Given the description of an element on the screen output the (x, y) to click on. 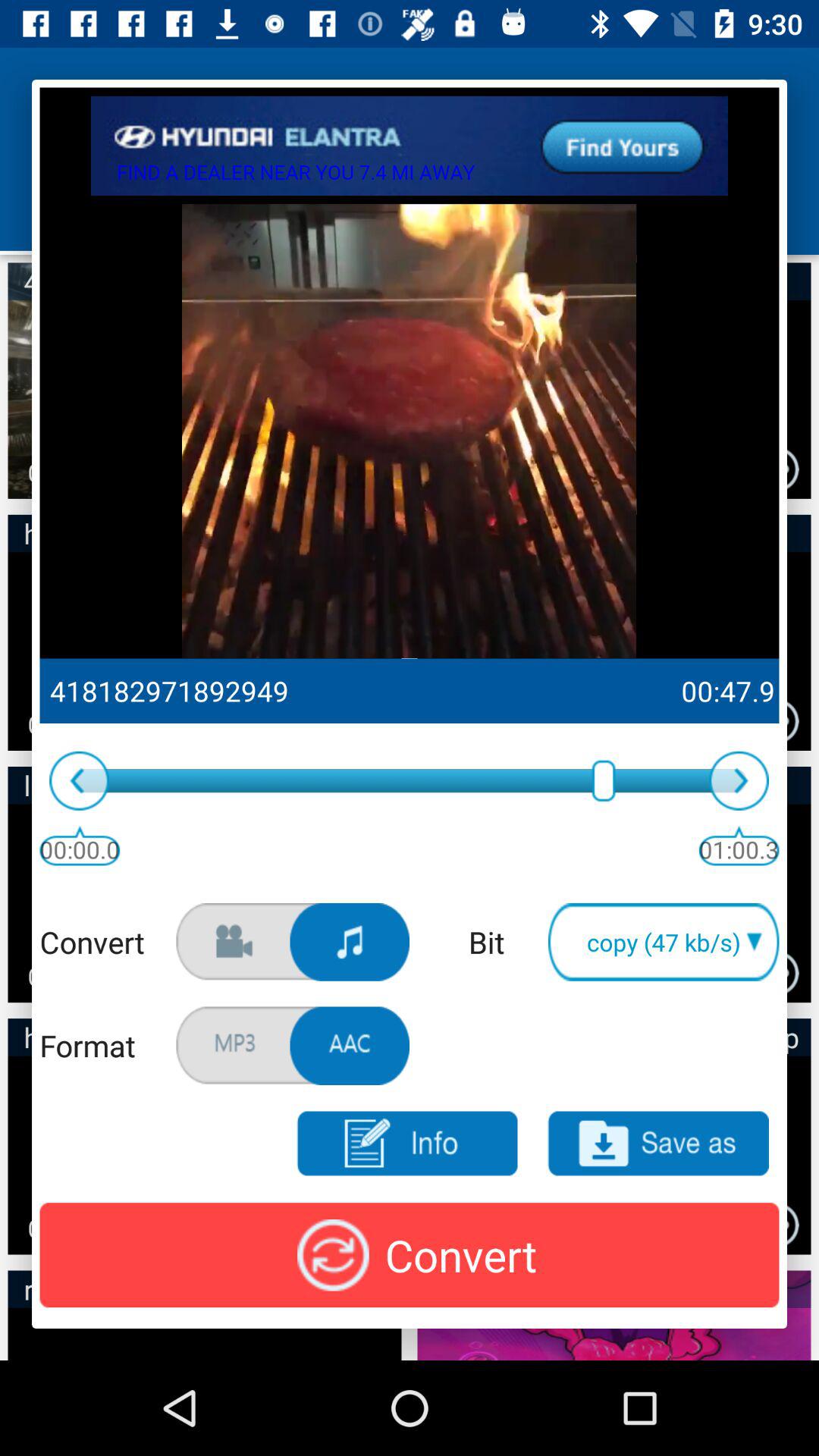
toggle audio format (349, 1045)
